Given the description of an element on the screen output the (x, y) to click on. 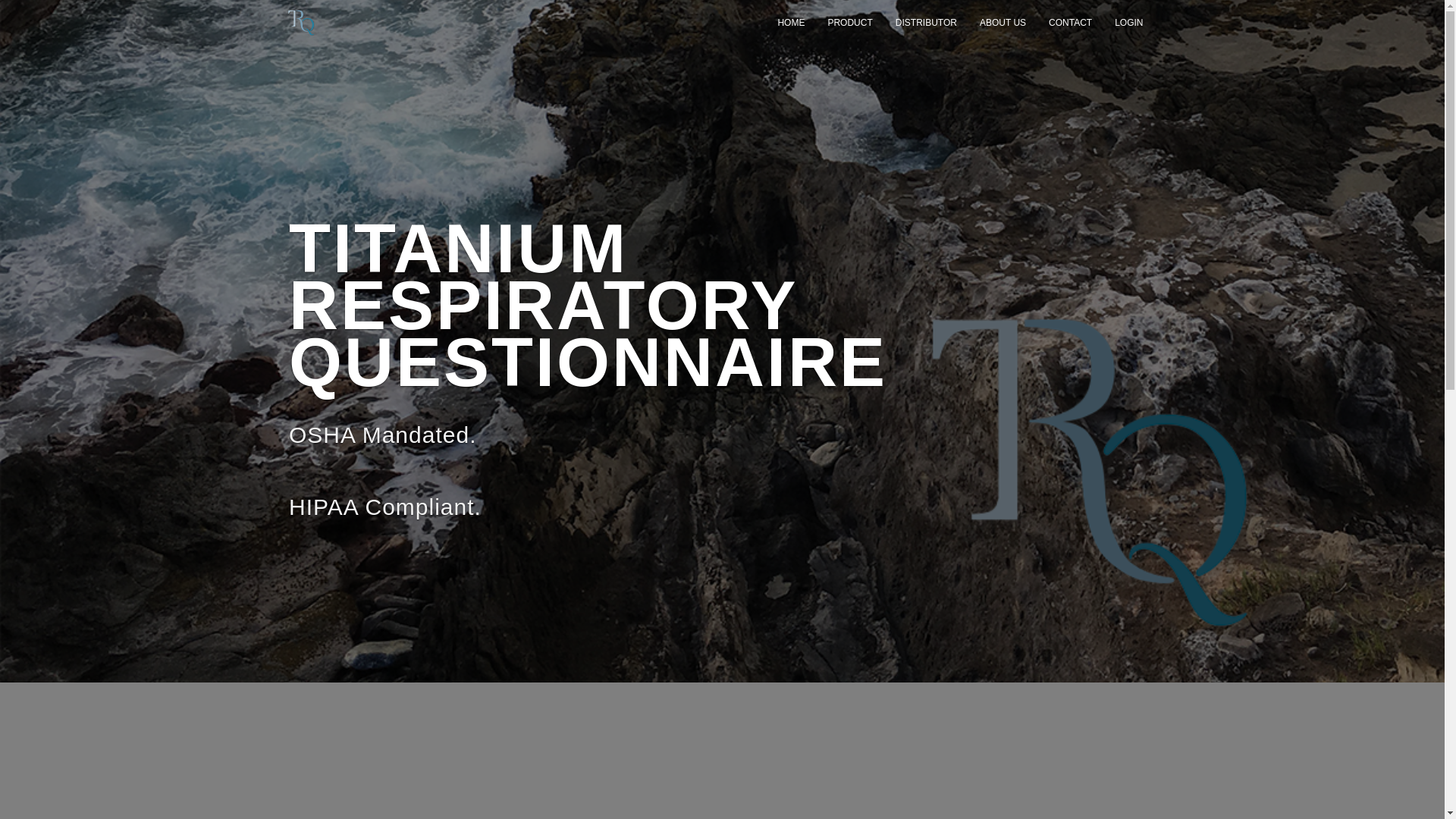
CONTACT (1069, 22)
HOME (790, 22)
ABOUT US (1002, 22)
PRODUCT (849, 22)
LOGIN (1128, 22)
DISTRIBUTOR (925, 22)
